Given the description of an element on the screen output the (x, y) to click on. 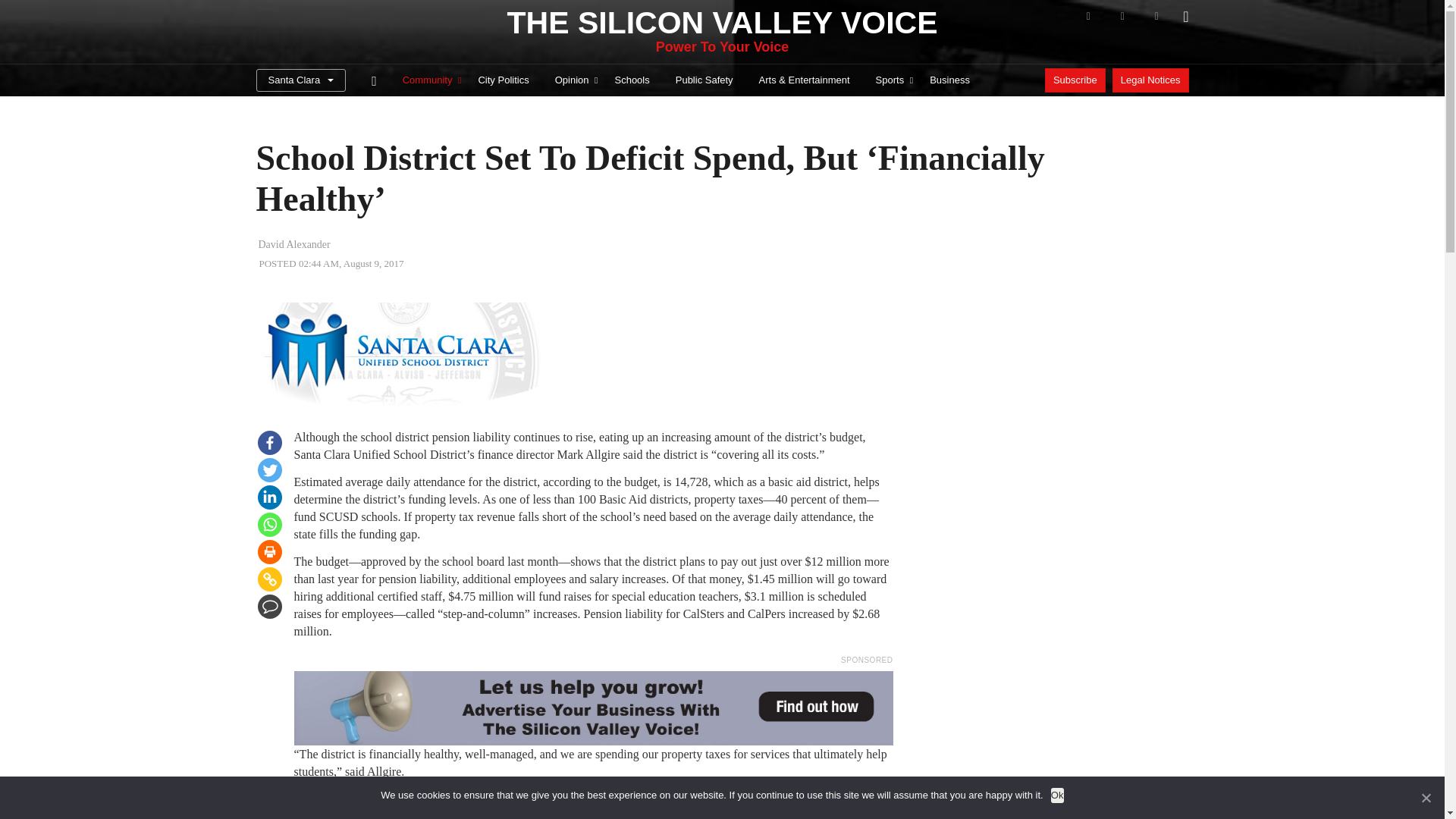
Comment (269, 606)
Posts by David Alexander (293, 244)
Santa Clara (301, 80)
Print (269, 551)
Linkedin (269, 497)
ion-social-facebook (1088, 15)
Community (427, 80)
Copy Link (269, 579)
Twitter (269, 469)
Whatsapp (269, 524)
THE SILICON VALLEY VOICE (721, 22)
Facebook (269, 442)
ion-social-twitter (1122, 15)
ion-social-instagram (1155, 15)
